Given the description of an element on the screen output the (x, y) to click on. 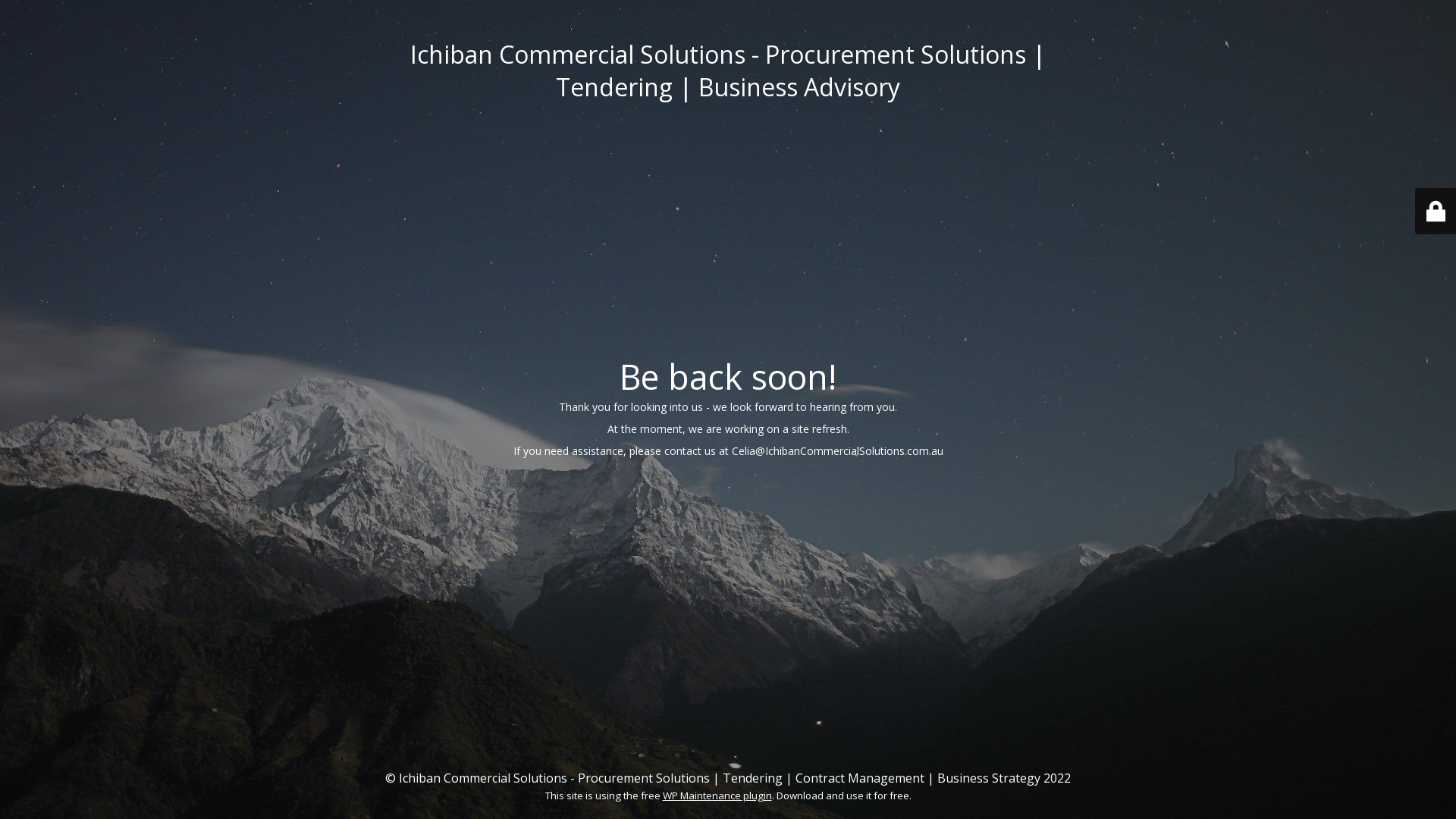
WP Maintenance plugin Element type: text (716, 795)
